Given the description of an element on the screen output the (x, y) to click on. 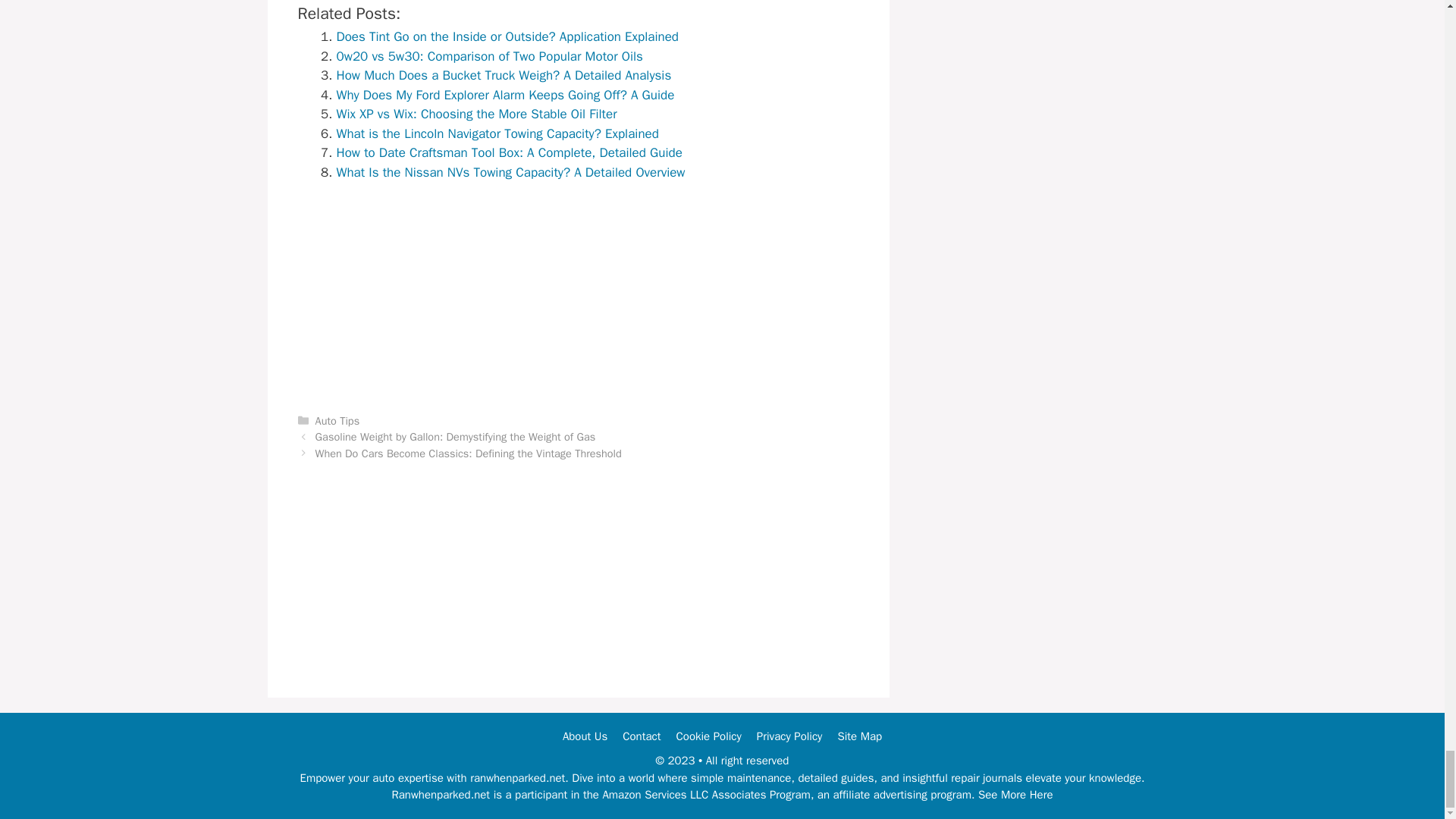
What is the Lincoln Navigator Towing Capacity? Explained (497, 133)
Wix XP vs Wix: Choosing the More Stable Oil Filter (476, 114)
How to Date Craftsman Tool Box: A Complete, Detailed Guide (509, 152)
0w20 vs 5w30: Comparison of Two Popular Motor Oils (489, 56)
Why Does My Ford Explorer Alarm Keeps Going Off? A Guide (505, 94)
Does Tint Go on the Inside or Outside? Application Explained (507, 36)
What Is the Nissan NVs Towing Capacity? A Detailed Overview (510, 172)
